Given the description of an element on the screen output the (x, y) to click on. 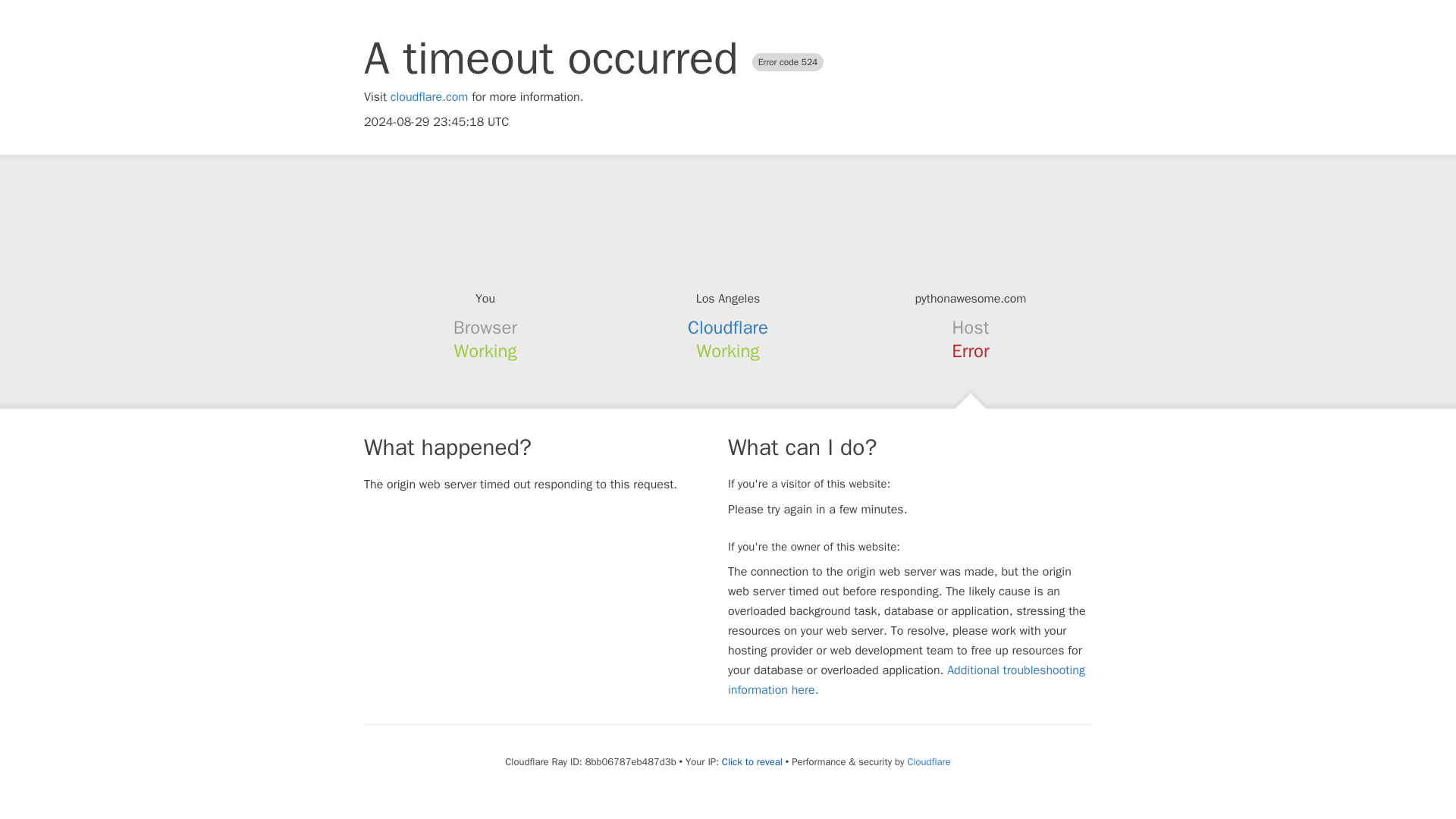
Click to reveal (752, 762)
Cloudflare (727, 327)
Additional troubleshooting information here. (906, 679)
Cloudflare (928, 761)
cloudflare.com (429, 96)
